Given the description of an element on the screen output the (x, y) to click on. 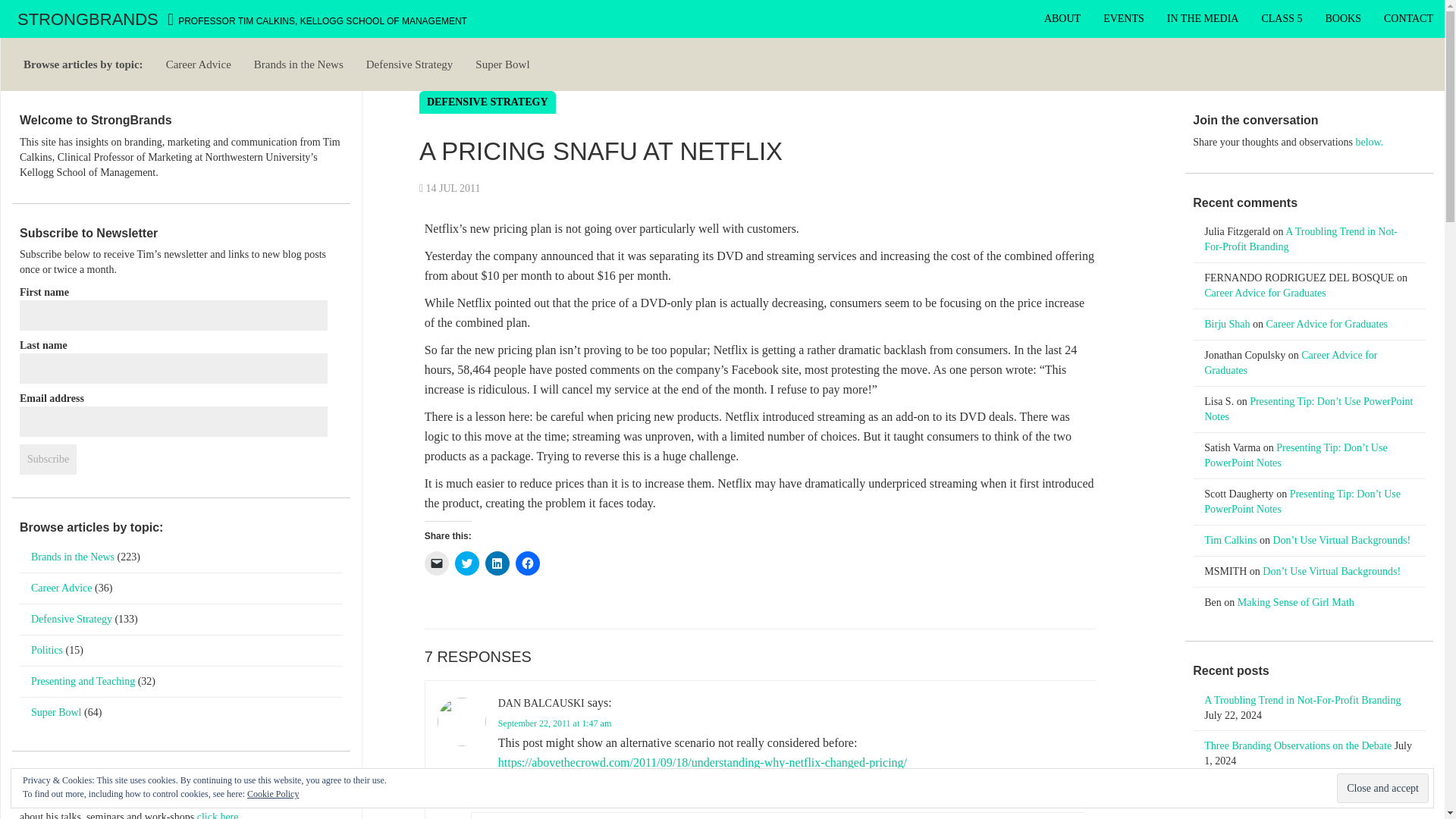
Career Advice (198, 63)
BOOKS (1343, 18)
About (1062, 18)
Click to share on Twitter (466, 563)
below. (1369, 142)
STRONGBRANDS    (88, 18)
Click to email a link to a friend (436, 563)
In the Media (1203, 18)
Class 5 (1281, 18)
Close and accept (1382, 788)
Browse articles by topic: (82, 63)
Reply (508, 789)
Brands in the News (299, 63)
CLASS 5 (1281, 18)
Books (1343, 18)
